Given the description of an element on the screen output the (x, y) to click on. 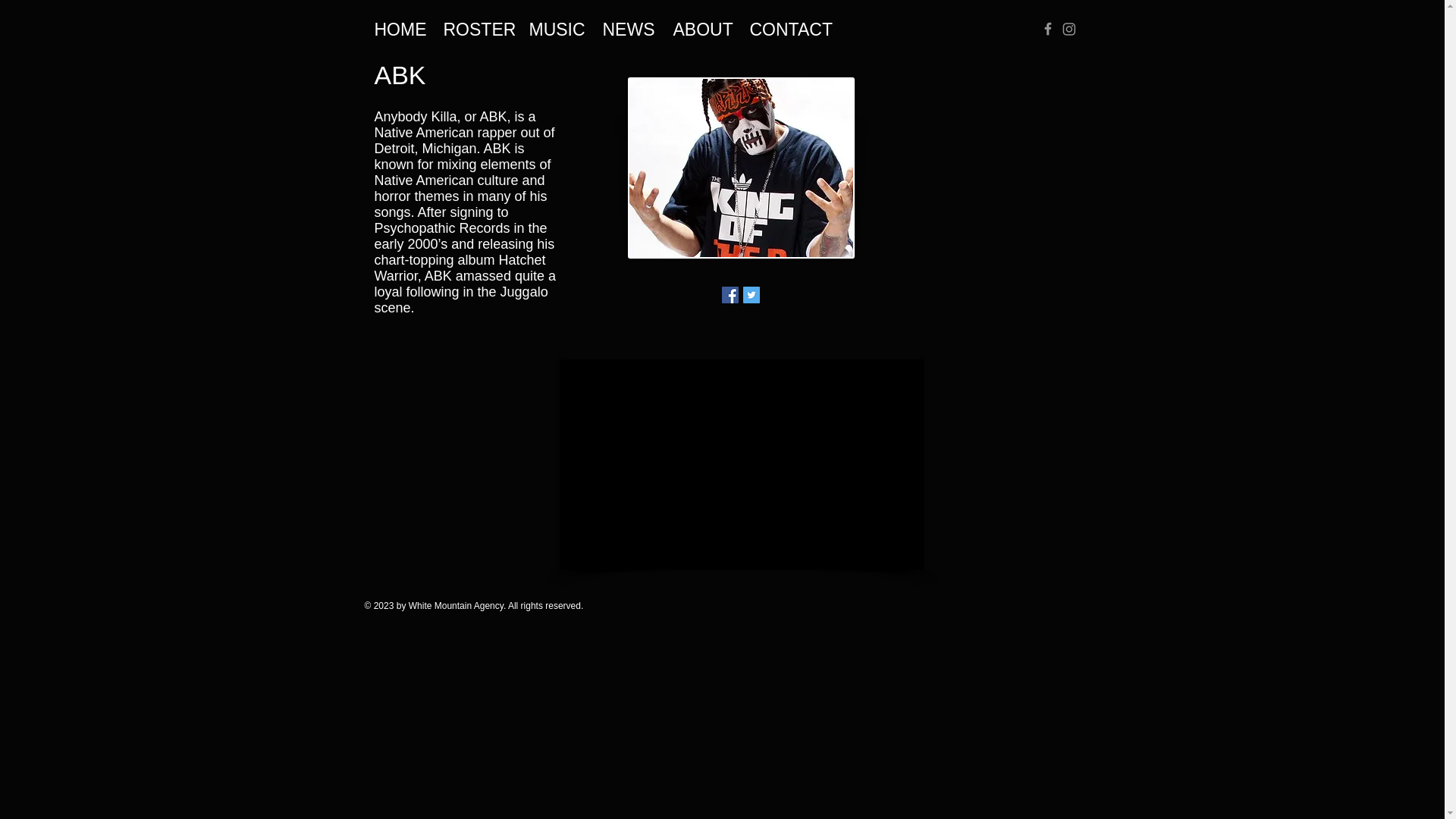
HOME (396, 26)
ROSTER (473, 26)
External YouTube (741, 464)
MUSIC (553, 26)
CONTACT (782, 26)
ABOUT (699, 26)
NEWS (625, 26)
